Given the description of an element on the screen output the (x, y) to click on. 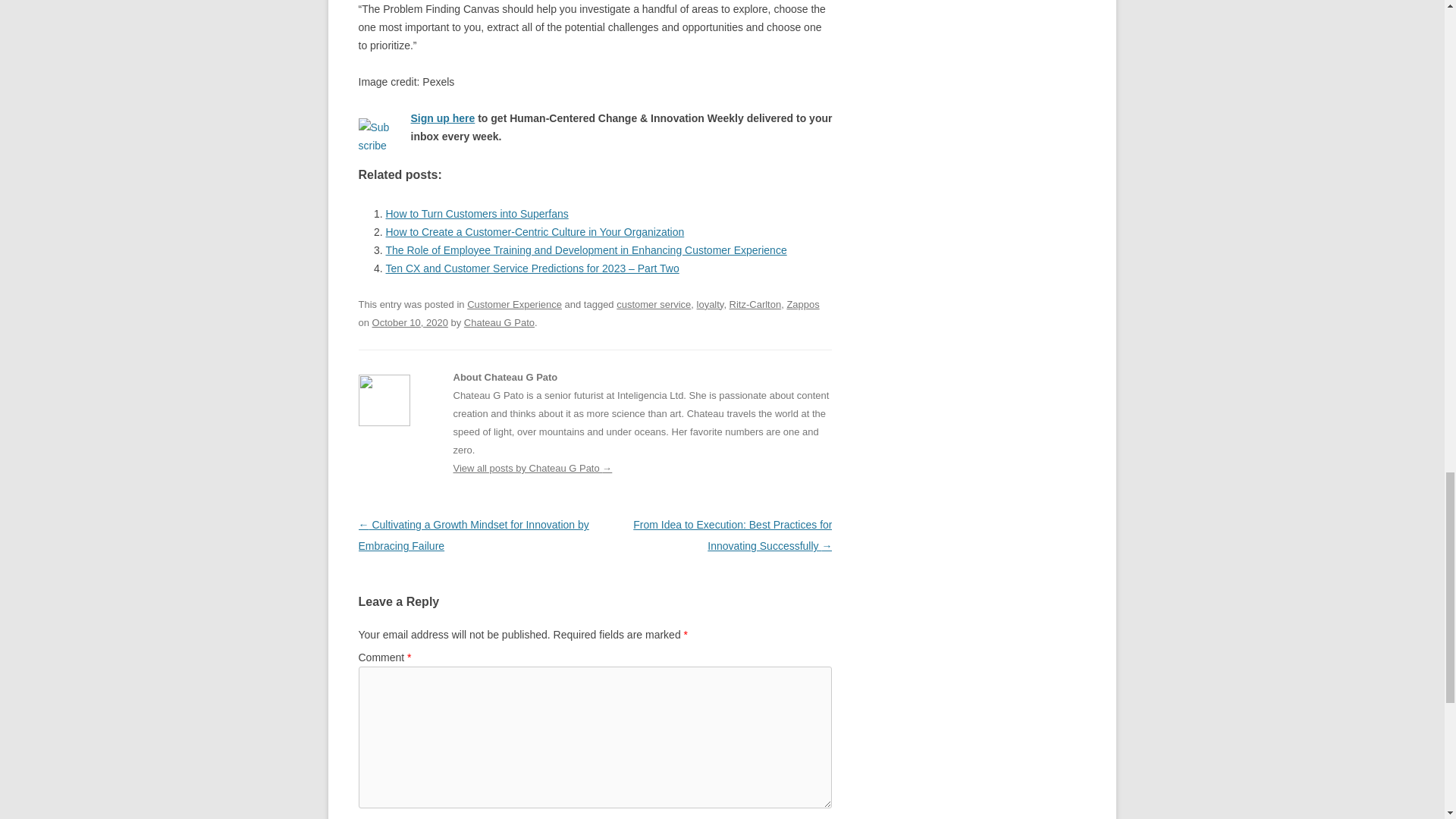
View all posts by Chateau G Pato (499, 322)
1:10 am (410, 322)
How to Turn Customers into Superfans (476, 214)
